Given the description of an element on the screen output the (x, y) to click on. 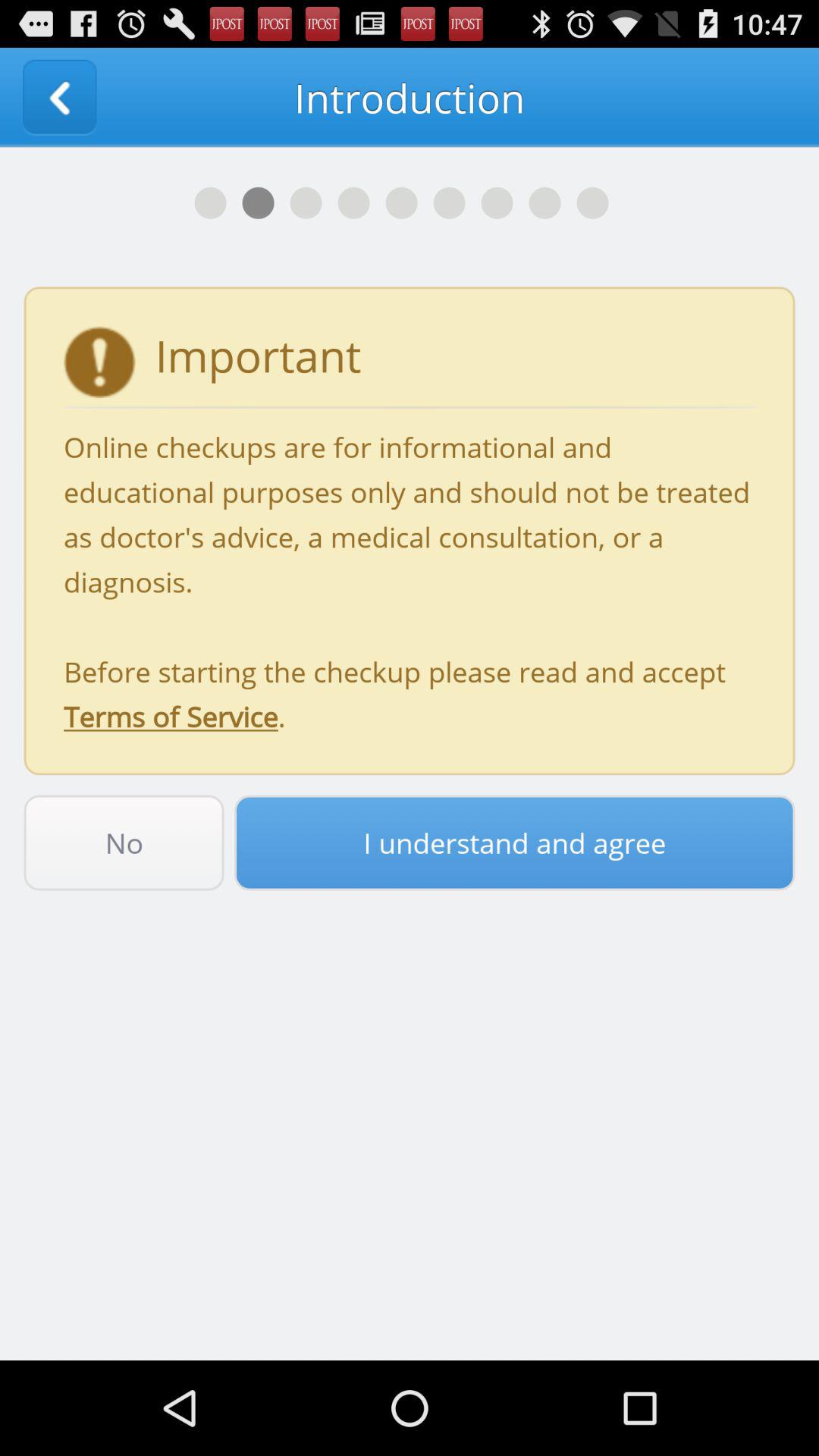
choose app to the left of the introduction (59, 97)
